Given the description of an element on the screen output the (x, y) to click on. 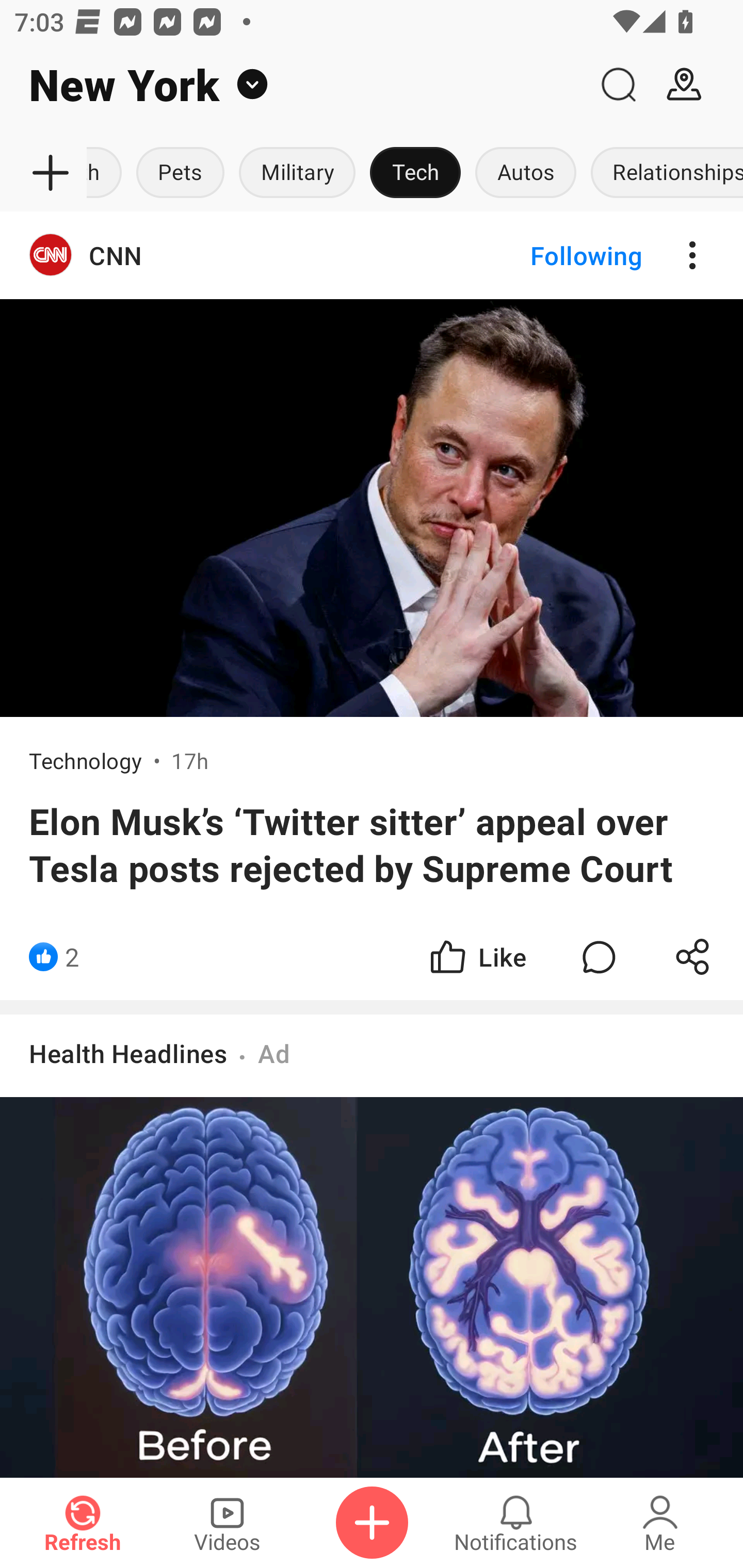
New York (292, 84)
Pets (180, 172)
Military (296, 172)
Tech (415, 172)
Autos (525, 172)
Relationships (663, 172)
CNN Following (371, 255)
Following (569, 255)
2 (72, 957)
Like (476, 957)
Health Headlines (127, 1053)
Videos (227, 1522)
Notifications (516, 1522)
Me (659, 1522)
